Given the description of an element on the screen output the (x, y) to click on. 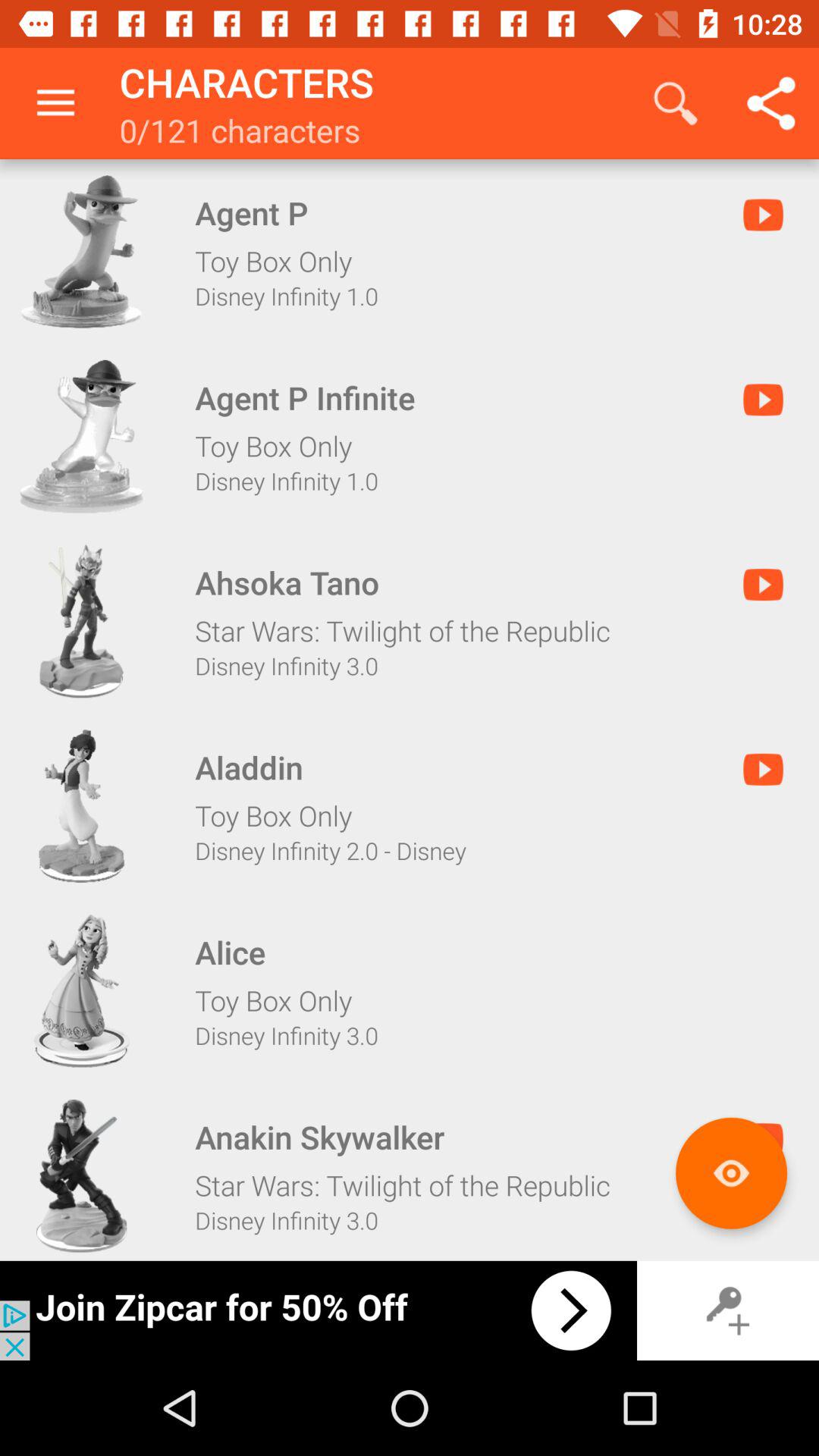
log keys (728, 1310)
